Given the description of an element on the screen output the (x, y) to click on. 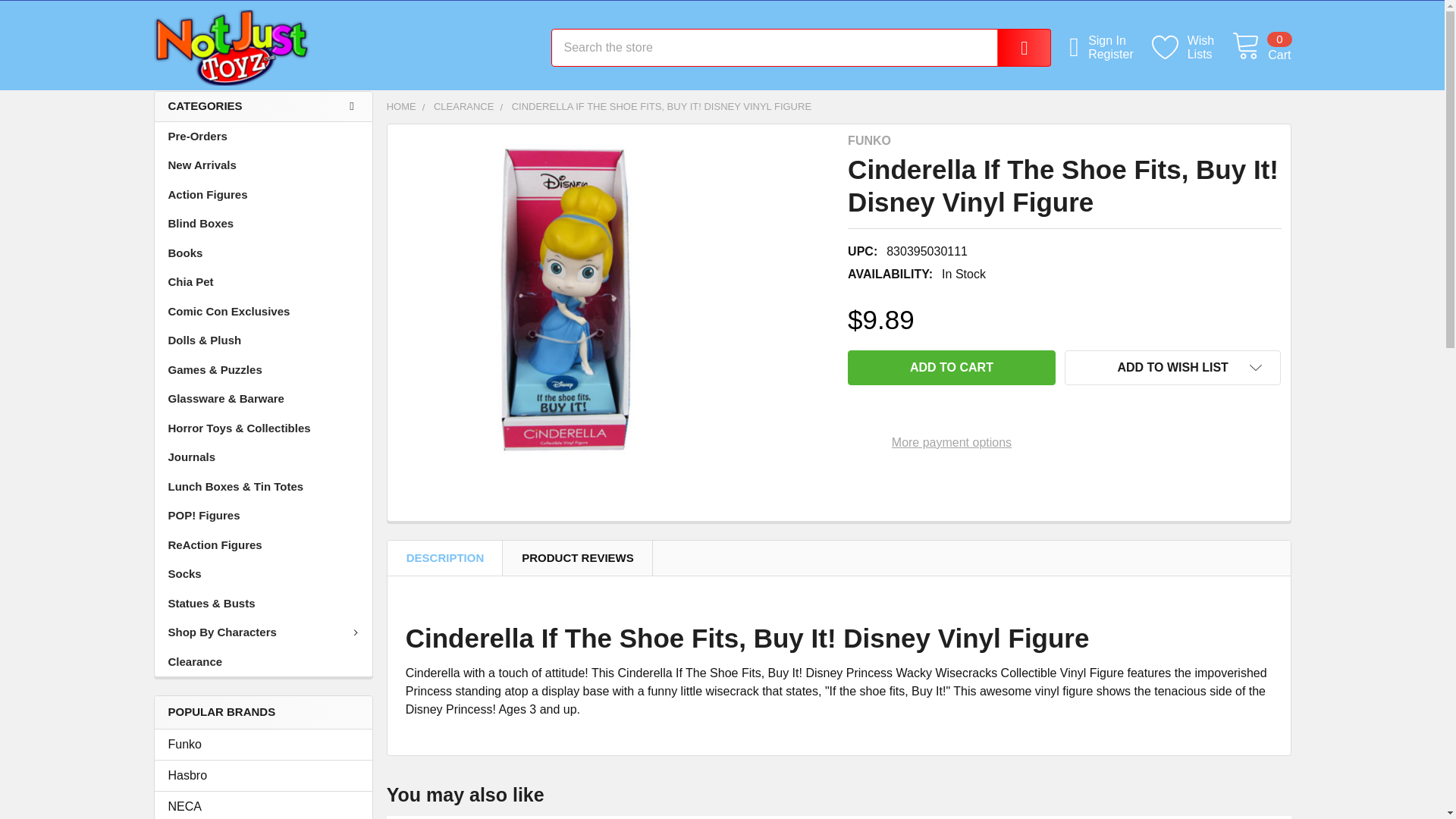
Hasbro (263, 775)
Register (1119, 54)
Wish Lists (1192, 48)
Not Just Toyz (230, 47)
Search (1013, 47)
Funko (263, 744)
Sign In (1119, 40)
Cart (1260, 47)
Add to Cart (1260, 47)
Cinderella If The Shoe Fits, Buy It! Disney Vinyl Figure (951, 367)
Search (563, 299)
PayPal (1013, 47)
NECA (1192, 48)
